Given the description of an element on the screen output the (x, y) to click on. 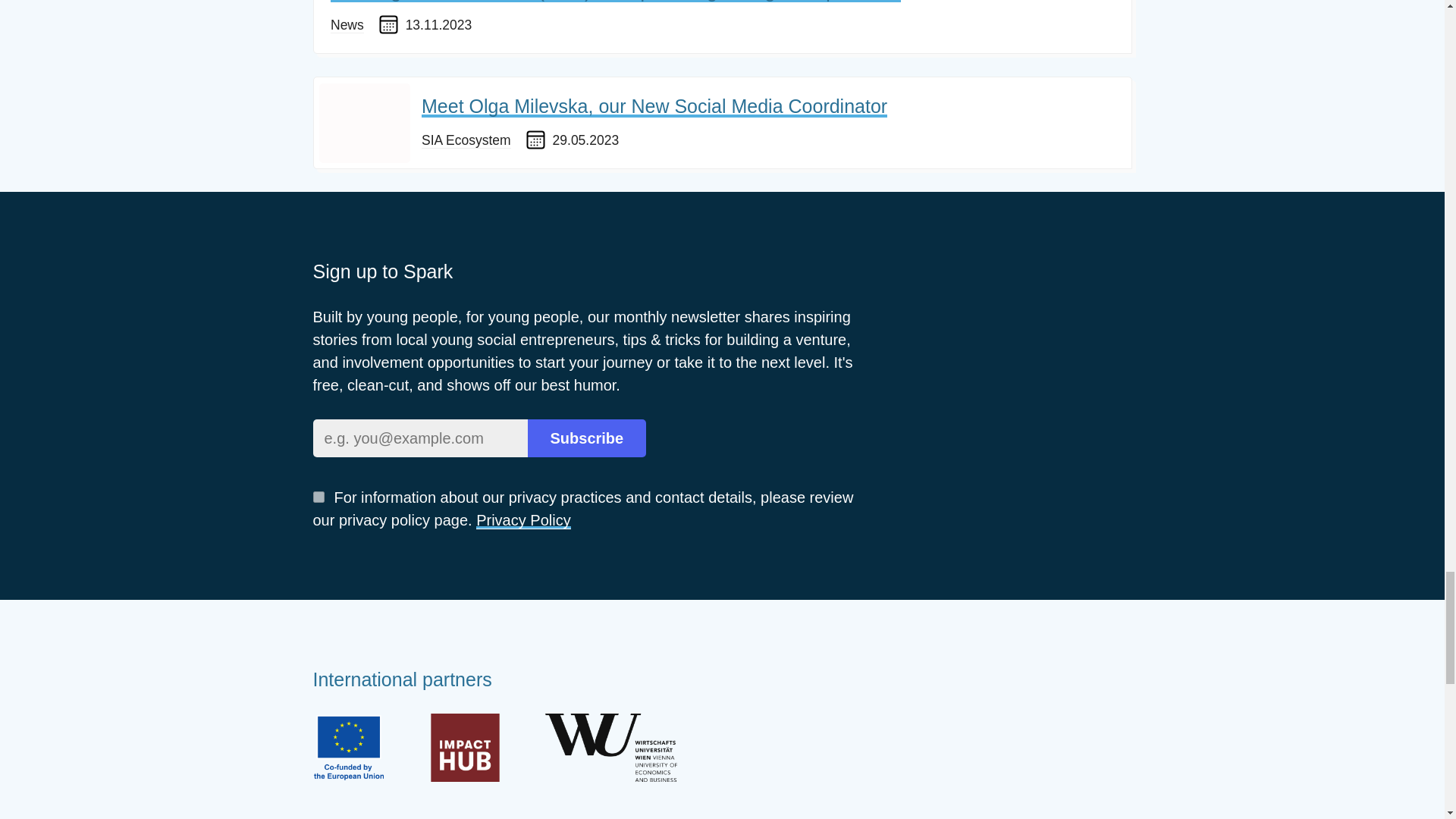
Y (318, 496)
News (347, 25)
Meet Olga Milevska, our New Social Media Coordinator (654, 106)
European Union (348, 747)
Subscribe (586, 438)
SIA Ecosystem (466, 140)
Impact Hub (464, 747)
Vienna University of Economics and Business (610, 747)
